Given the description of an element on the screen output the (x, y) to click on. 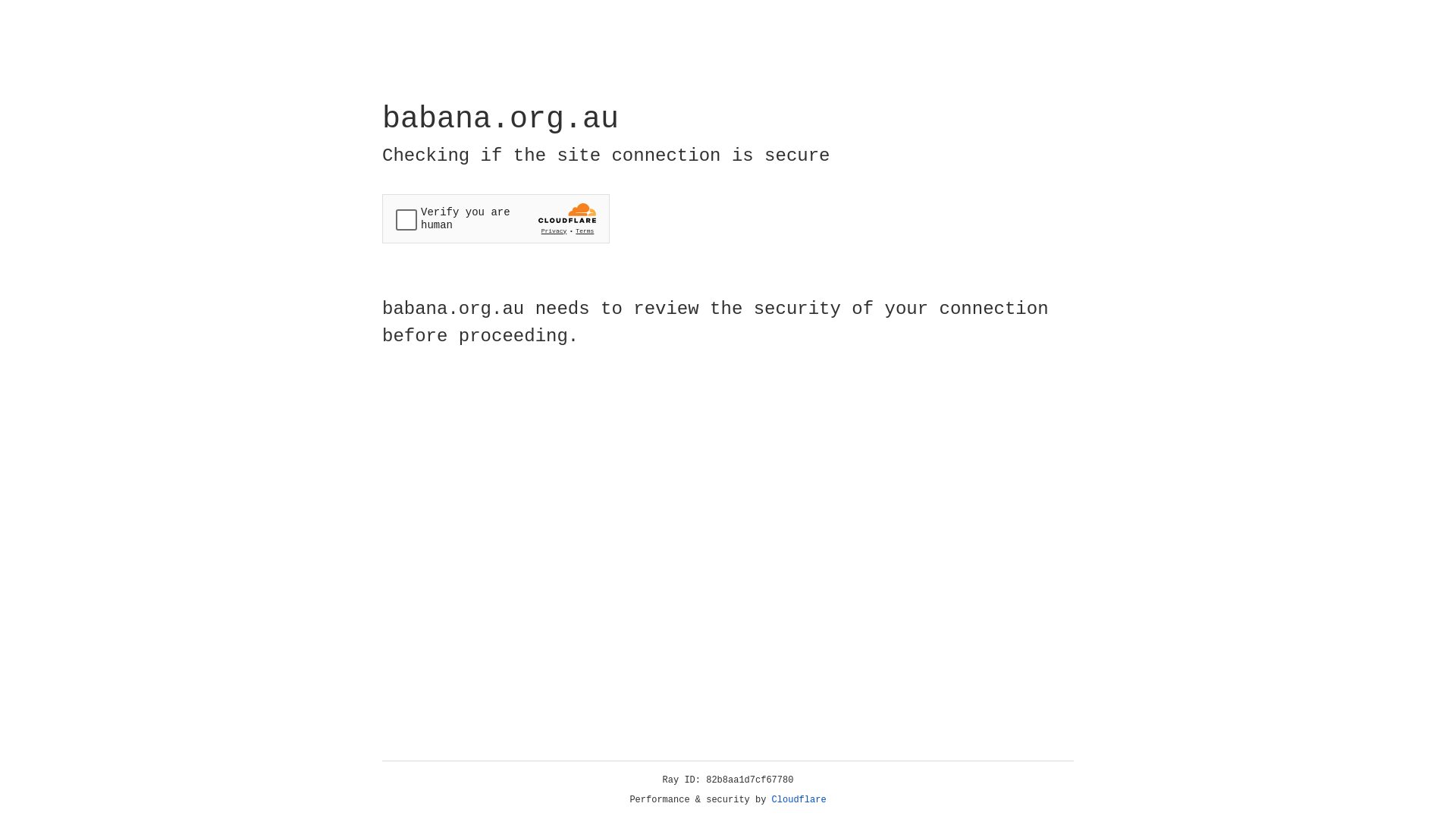
Cloudflare Element type: text (798, 799)
Widget containing a Cloudflare security challenge Element type: hover (495, 218)
